Given the description of an element on the screen output the (x, y) to click on. 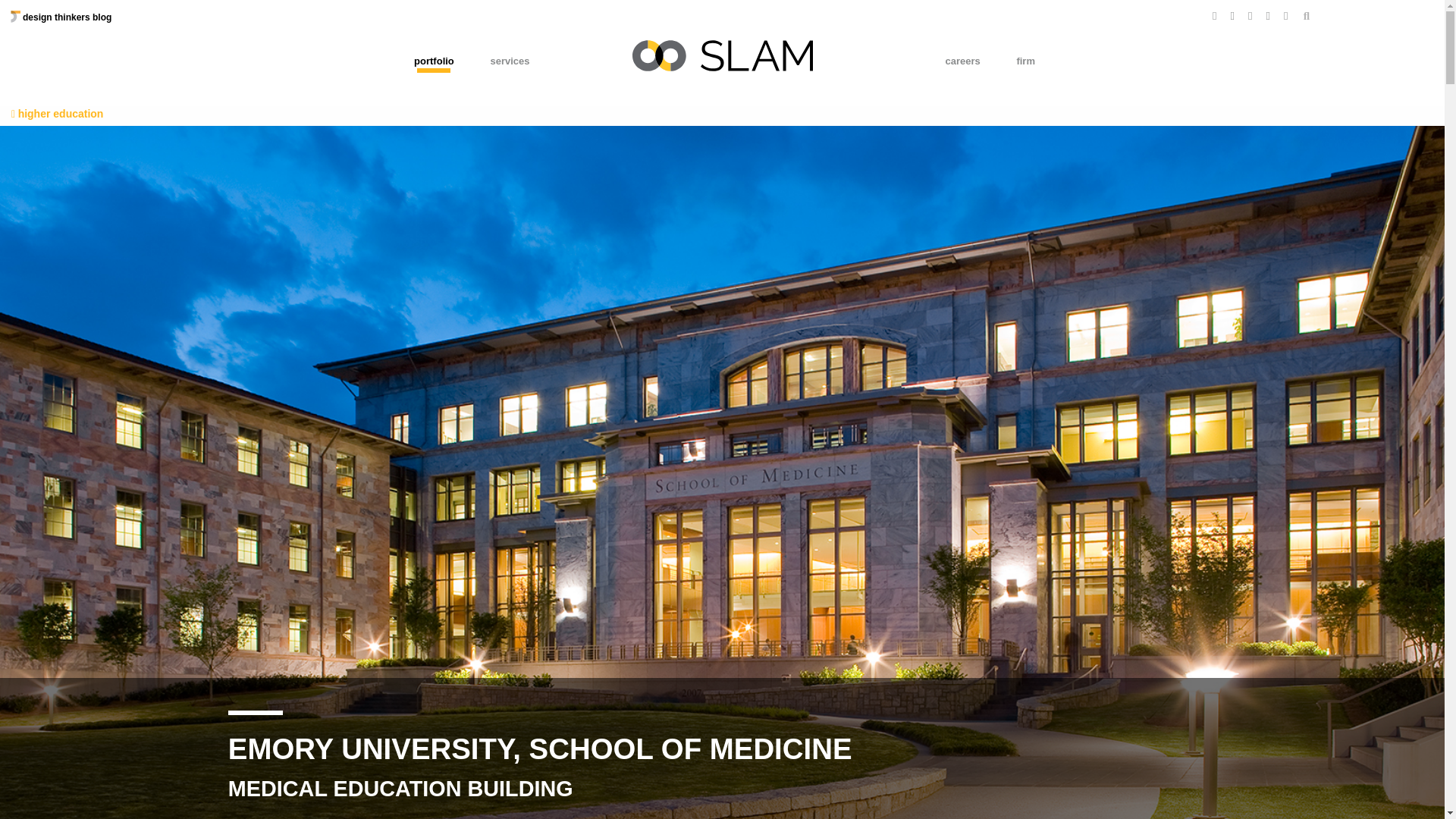
services (509, 60)
Facebook (1213, 15)
Search this site (1305, 16)
Instagram (1249, 15)
firm (1025, 60)
Vimeo (1285, 15)
Linkedin (1267, 15)
design thinkers blog (61, 16)
careers (962, 60)
portfolio (433, 60)
Twitter (1232, 15)
